Given the description of an element on the screen output the (x, y) to click on. 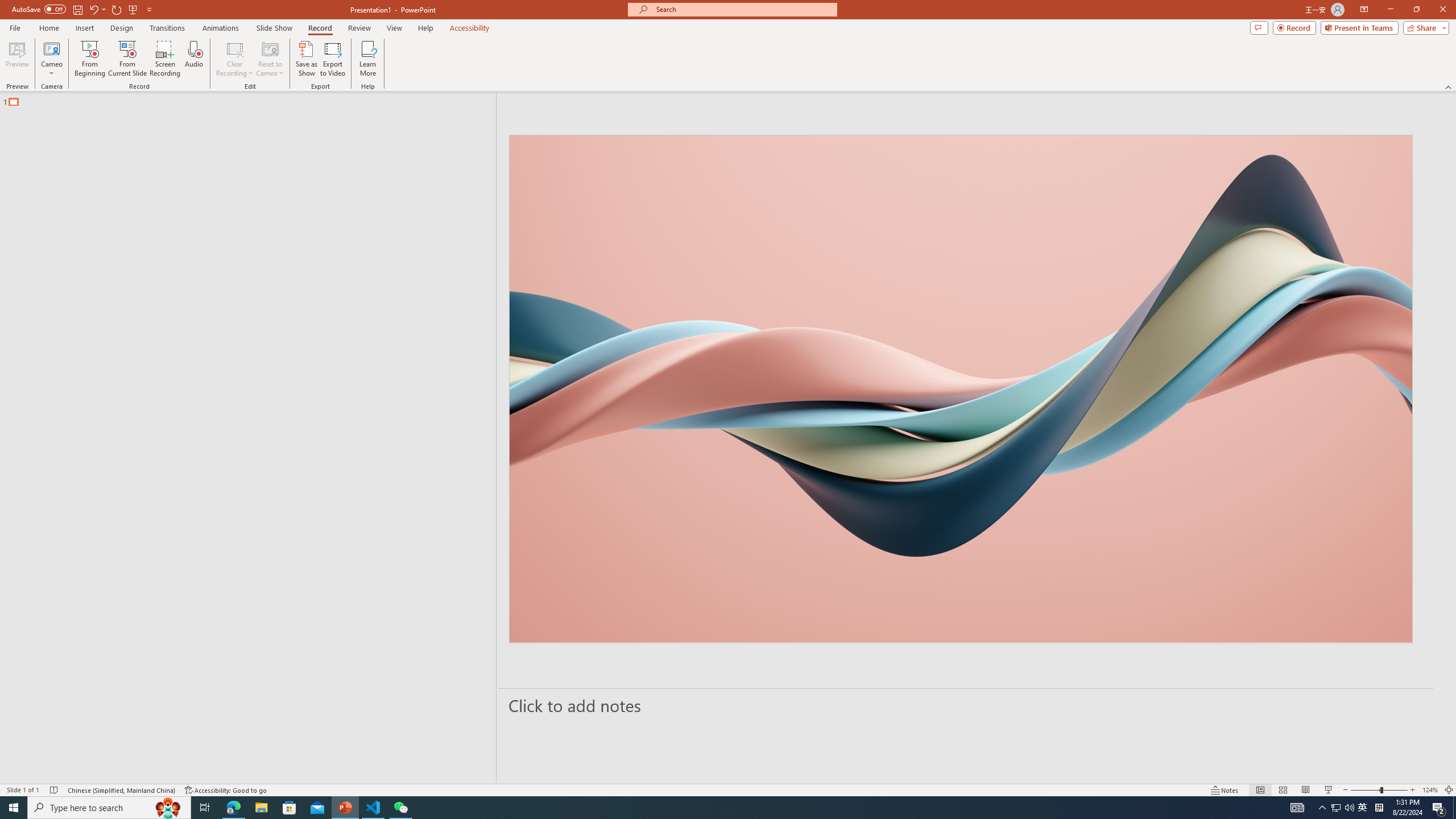
Screen Recording (165, 58)
Audio (193, 58)
Clear Recording (234, 58)
Save as Show (306, 58)
Accessibility Checker Accessibility: Good to go (226, 790)
